Given the description of an element on the screen output the (x, y) to click on. 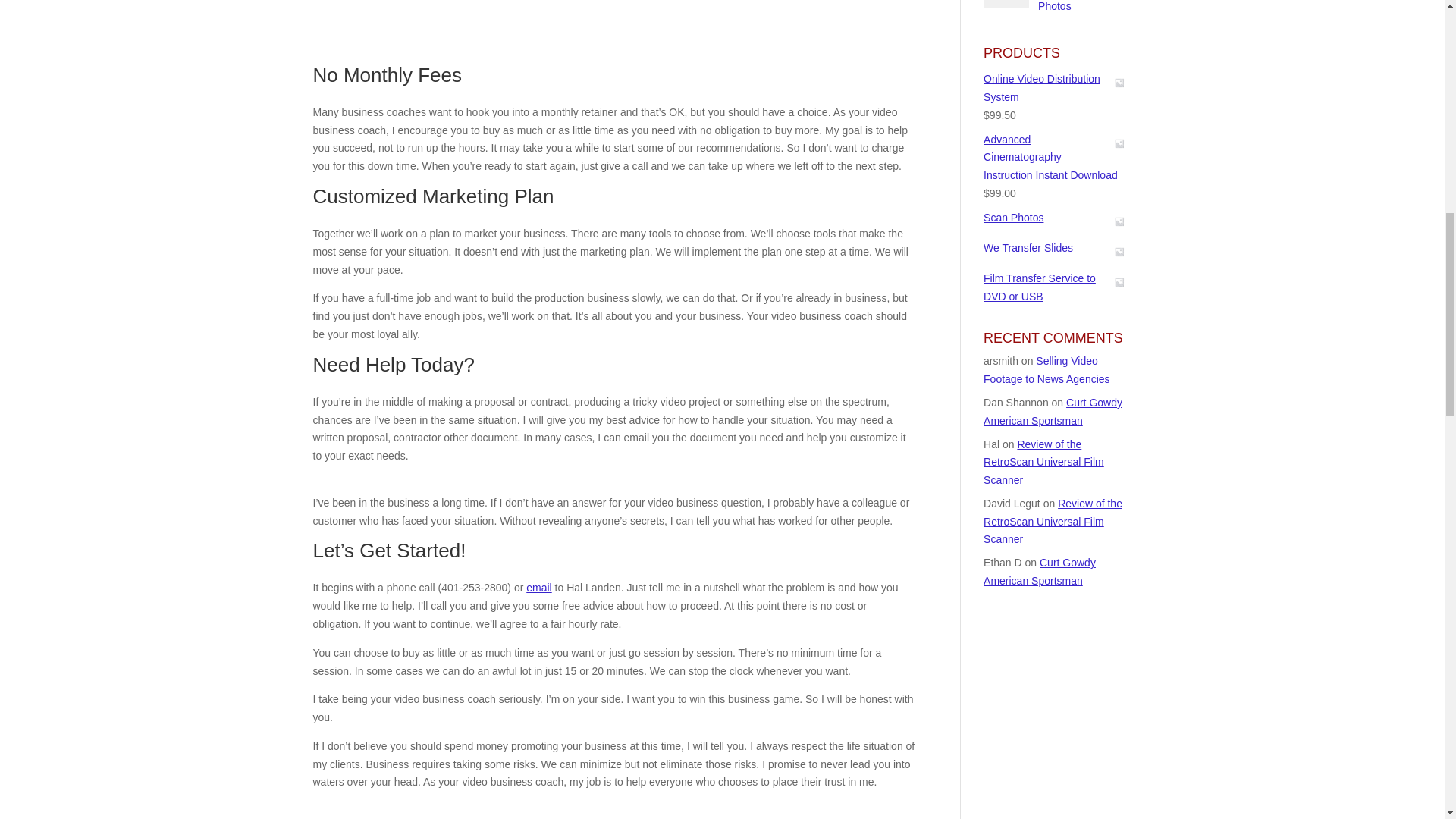
Advertisement (614, 29)
